Given the description of an element on the screen output the (x, y) to click on. 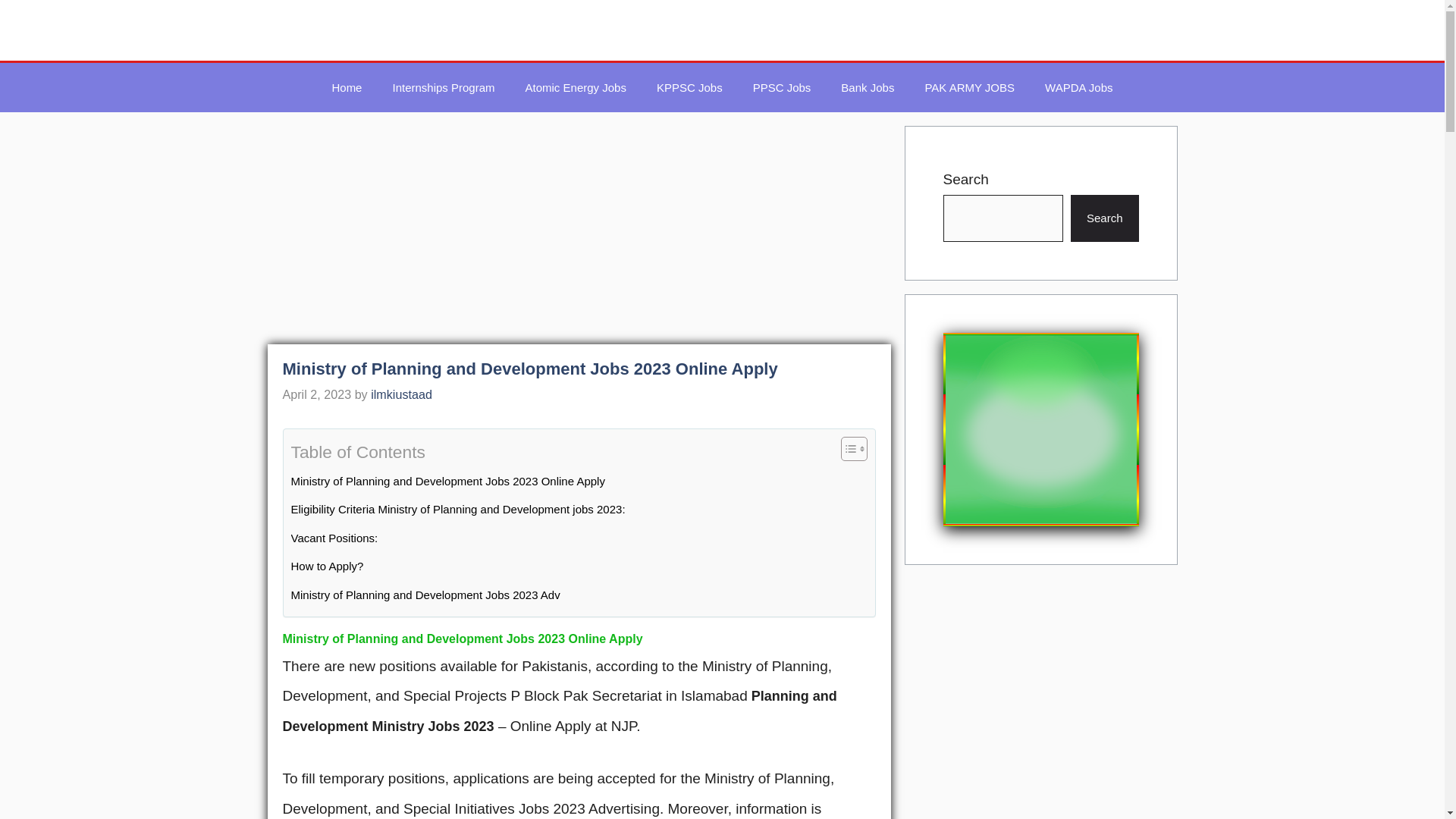
Internships Program (443, 87)
Home (346, 87)
WAPDA Jobs (1077, 87)
PPSC Jobs (782, 87)
Bank Jobs (866, 87)
How to Apply? (327, 566)
PAK ARMY JOBS (968, 87)
Ministry of Planning and Development Jobs 2023 Adv (425, 594)
Vacant Positions: (334, 538)
Ministry of Planning and Development Jobs 2023 Online Apply (448, 481)
ilmkiustaad (401, 394)
How to Apply? (327, 566)
KPPSC Jobs (690, 87)
Vacant Positions: (334, 538)
